Given the description of an element on the screen output the (x, y) to click on. 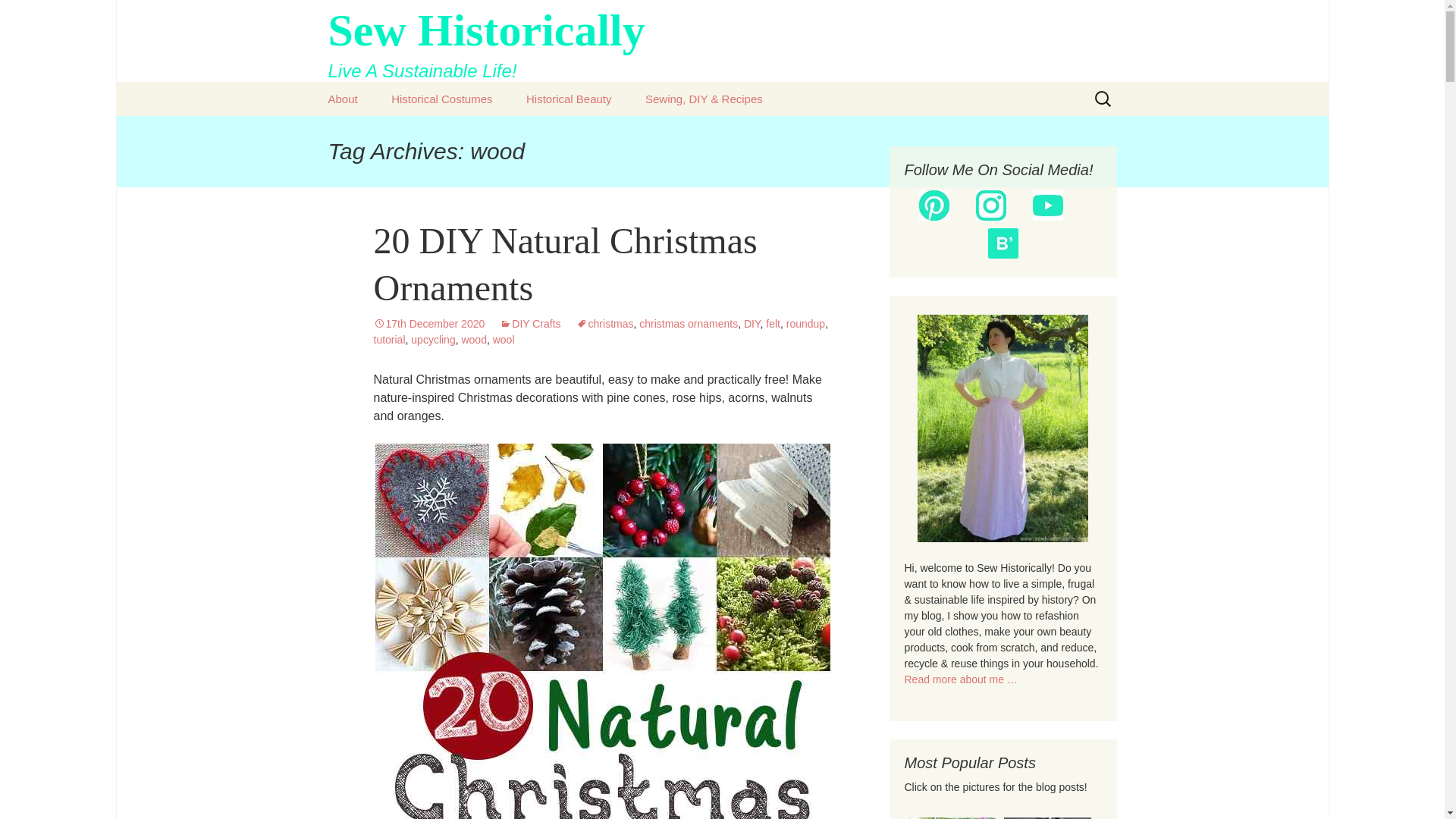
christmas (604, 323)
17th December 2020 (428, 323)
About (342, 98)
wood (473, 339)
felt (722, 40)
upcycling (772, 323)
Skip to content (432, 339)
Historical Costumes (529, 323)
christmas ornaments (440, 98)
Themes Across Eras (688, 323)
20 DIY Natural Christmas Ornaments (451, 132)
Search (564, 263)
tutorial (18, 15)
